Given the description of an element on the screen output the (x, y) to click on. 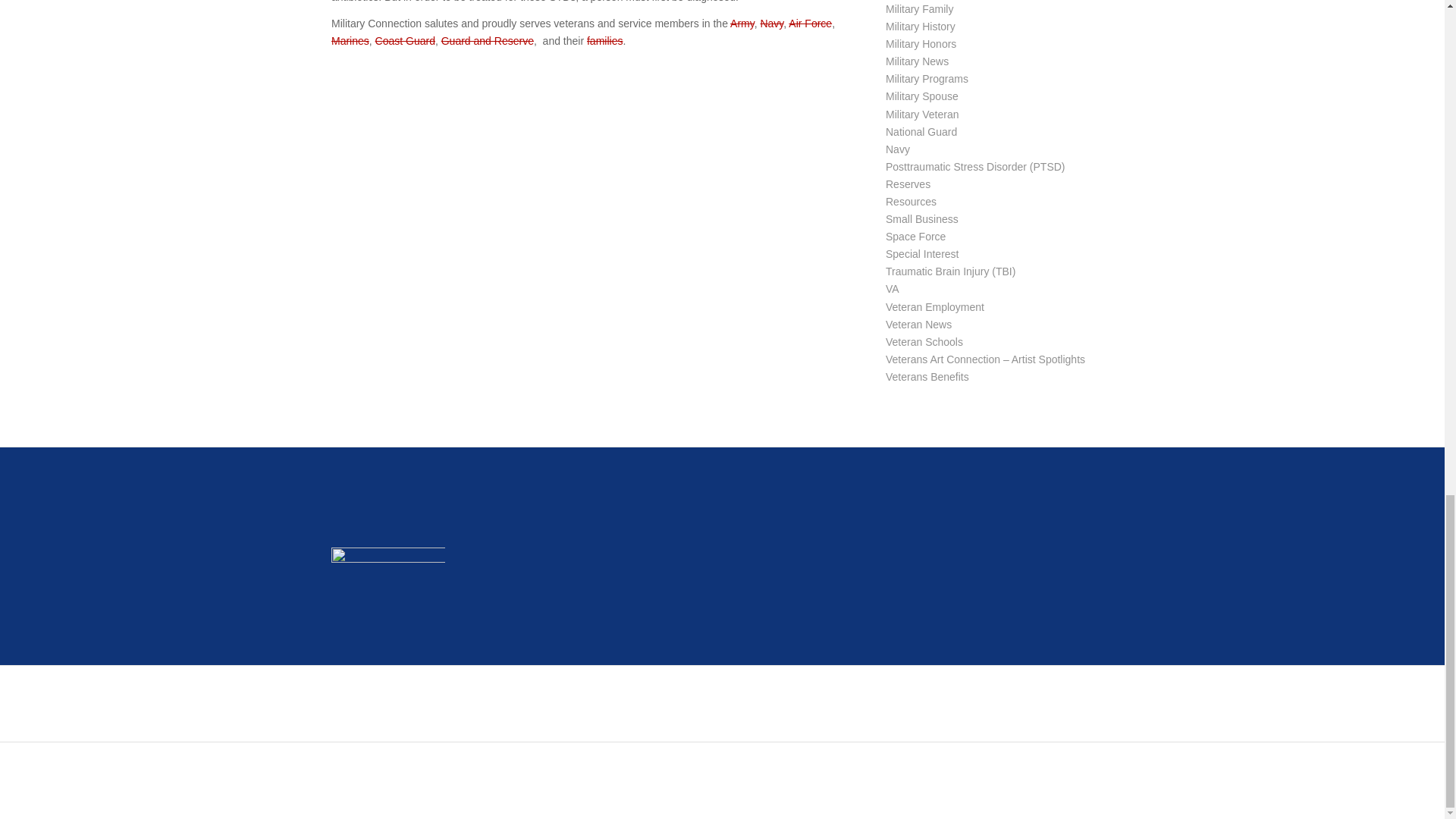
Army (742, 23)
Guard and Reserve (487, 40)
Air Force (810, 23)
families (604, 40)
Coast Guard (405, 40)
Marines (350, 40)
Navy (771, 23)
